Given the description of an element on the screen output the (x, y) to click on. 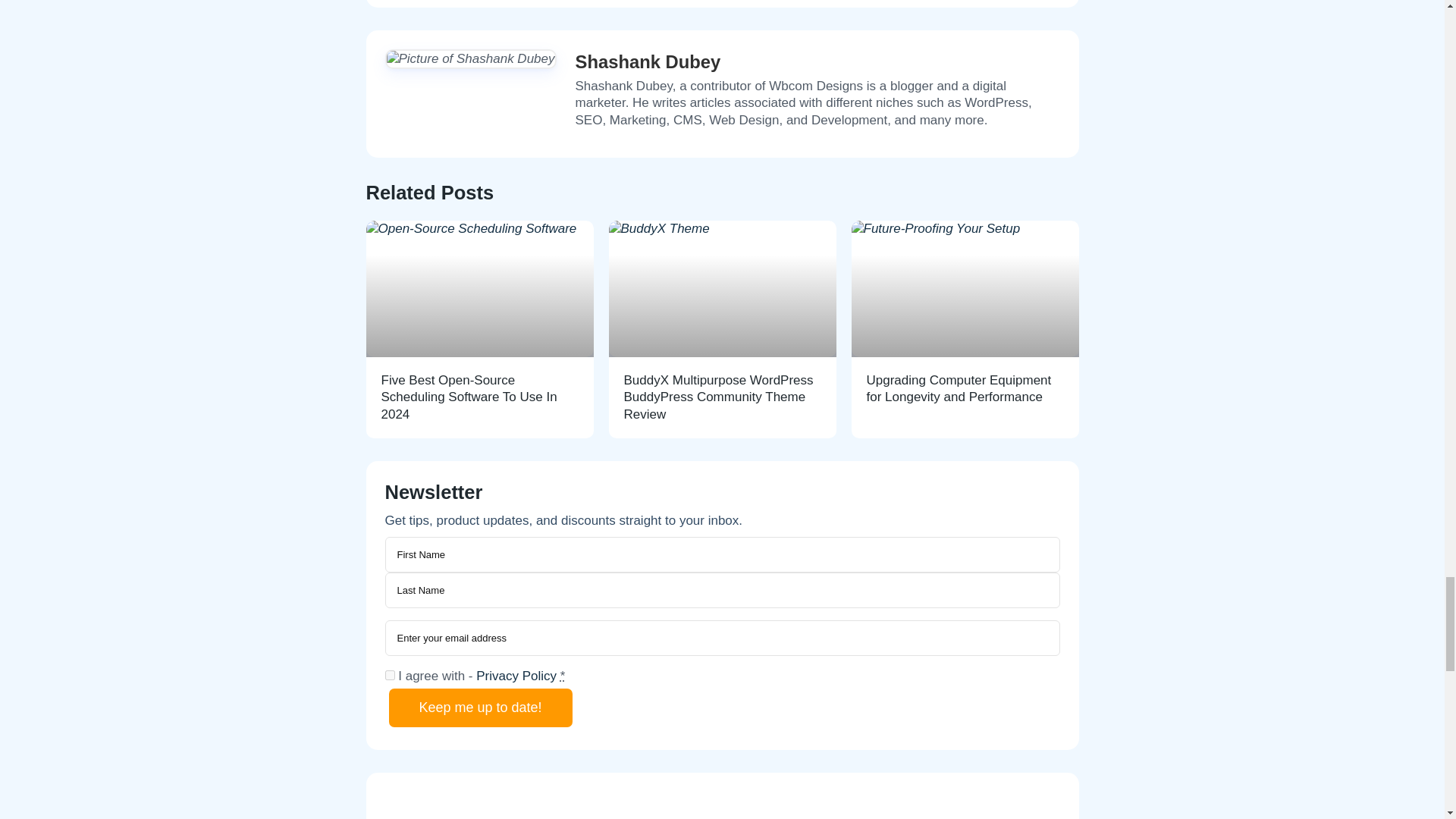
Keep me up to date! (480, 707)
